Given the description of an element on the screen output the (x, y) to click on. 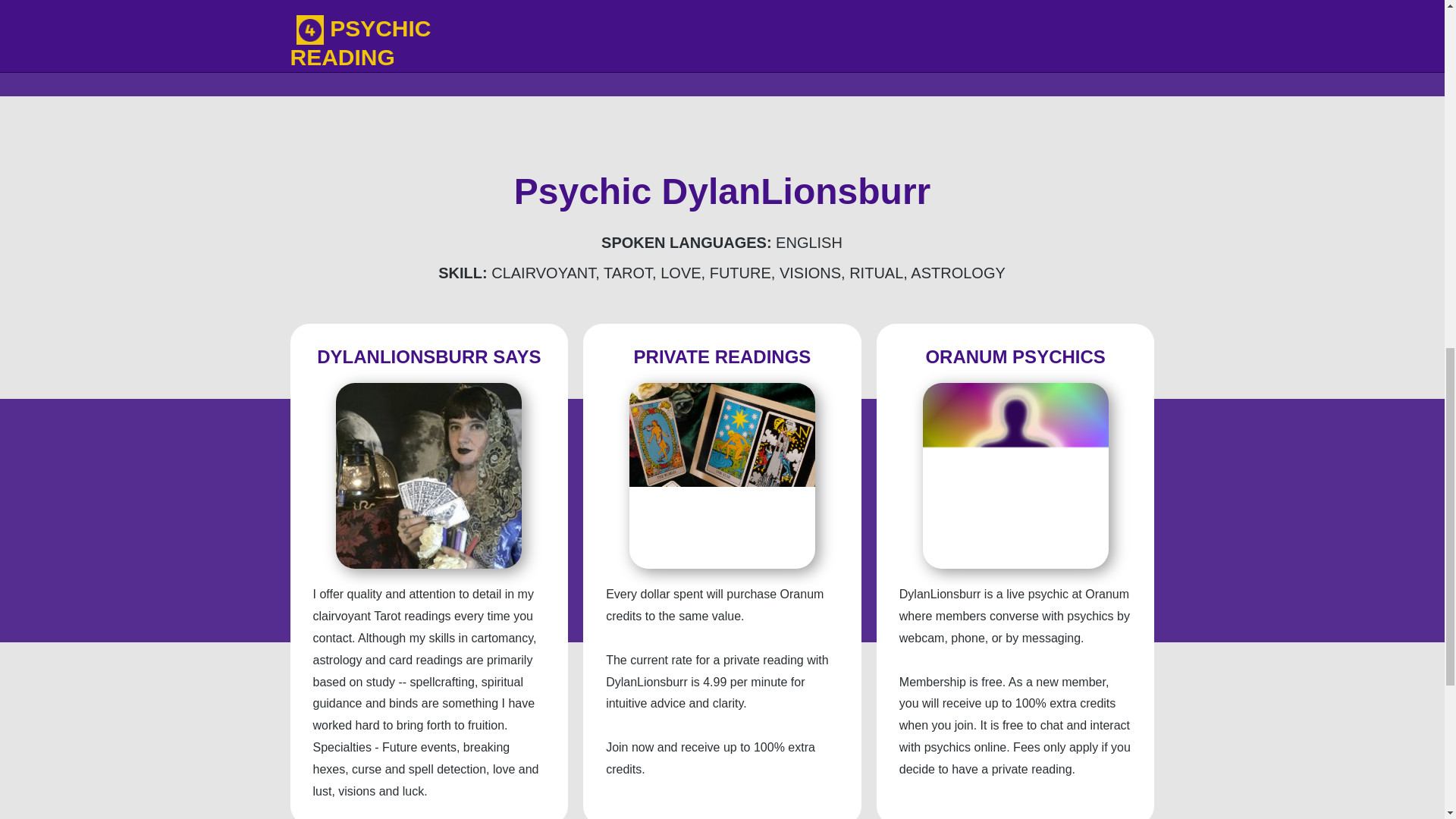
PRIVATE READINGS (721, 356)
ORANUM PSYCHICS (1014, 356)
DYLANLIONSBURR SAYS (428, 356)
